Given the description of an element on the screen output the (x, y) to click on. 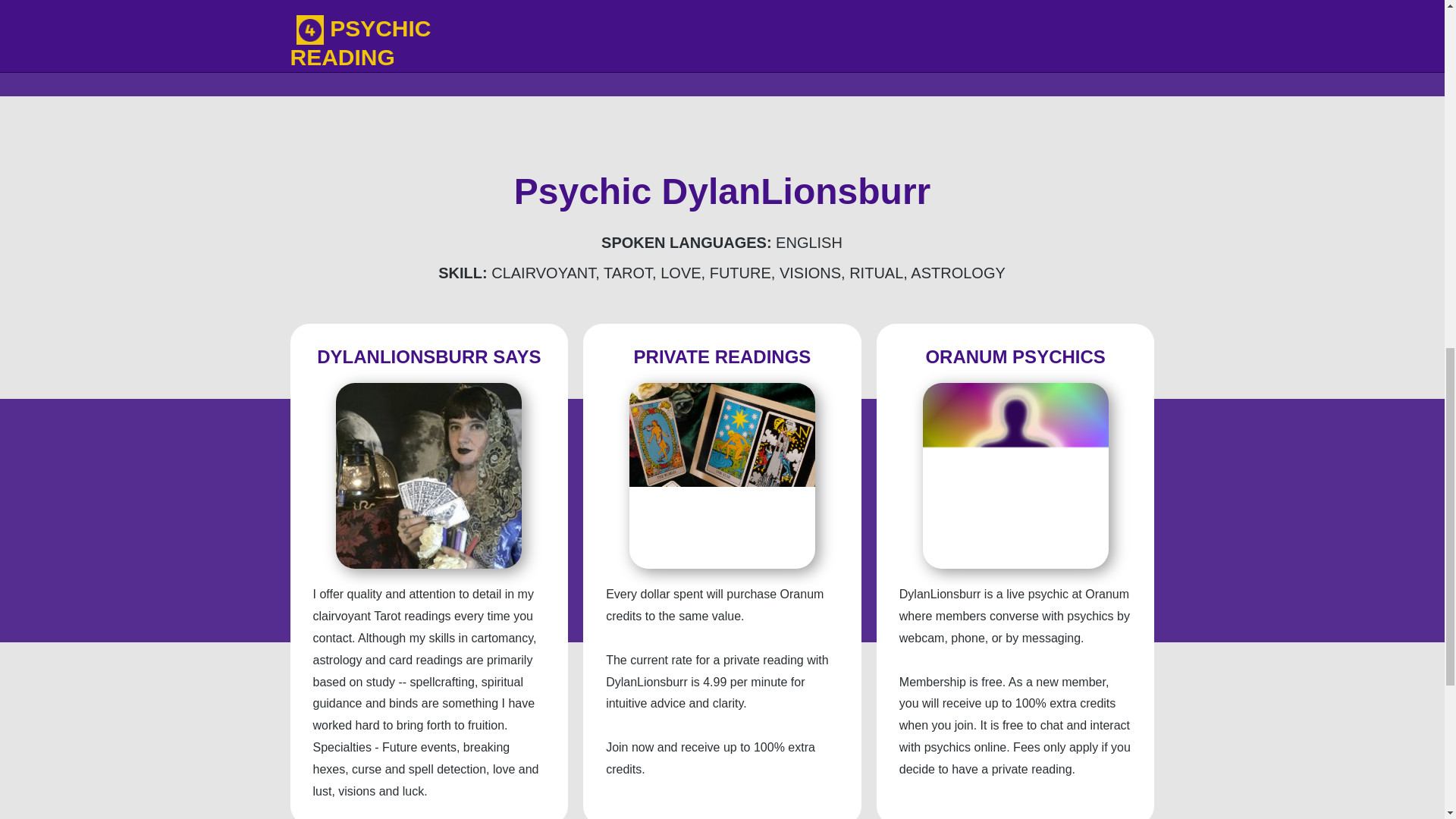
PRIVATE READINGS (721, 356)
ORANUM PSYCHICS (1014, 356)
DYLANLIONSBURR SAYS (428, 356)
